Given the description of an element on the screen output the (x, y) to click on. 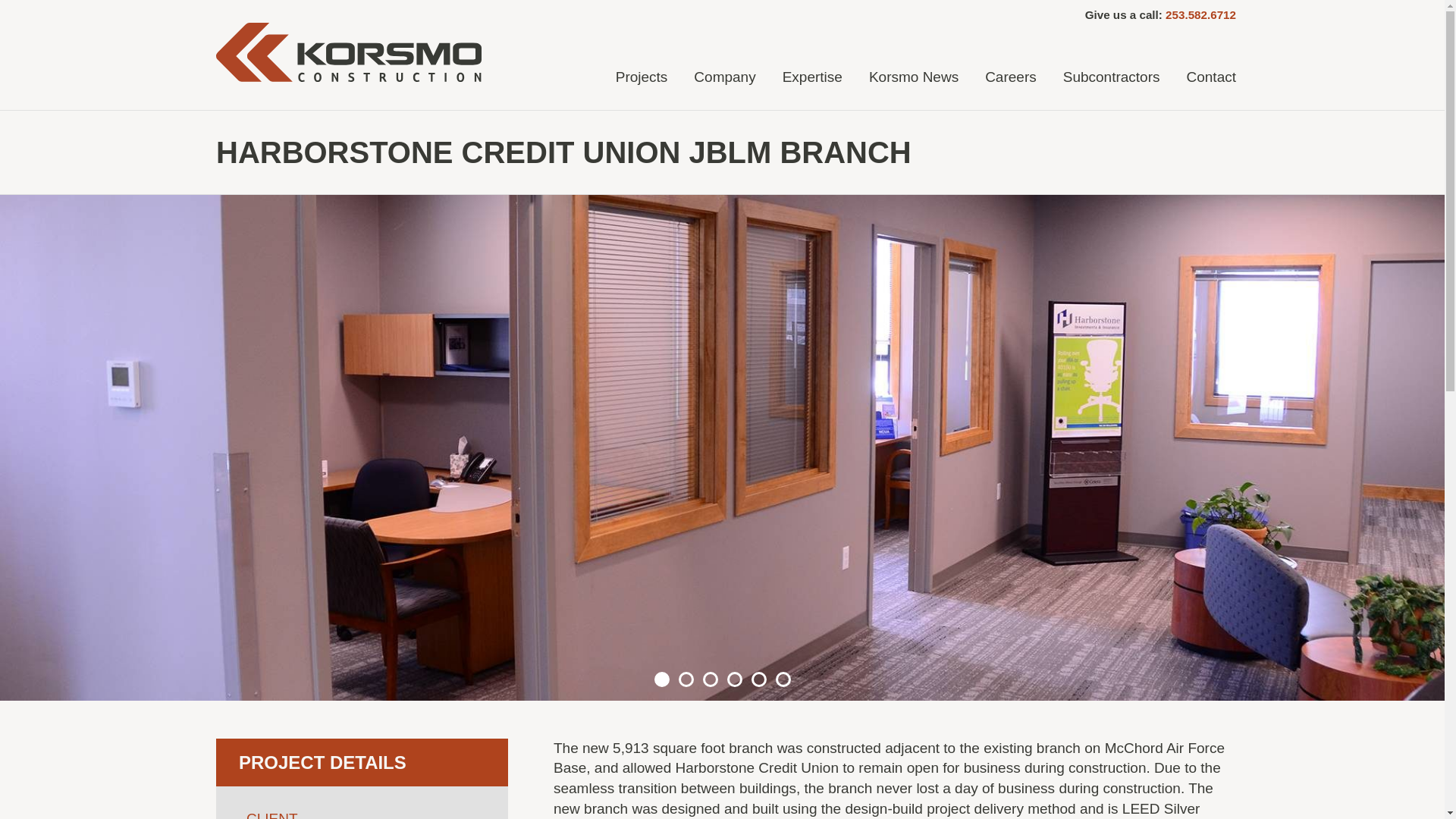
Careers (1009, 75)
1 (660, 679)
253.582.6712 (1201, 14)
Contact (1211, 75)
Projects (641, 75)
Korsmo News (913, 75)
Subcontractors (1111, 75)
2 (685, 679)
Expertise (812, 75)
Company (723, 75)
